Given the description of an element on the screen output the (x, y) to click on. 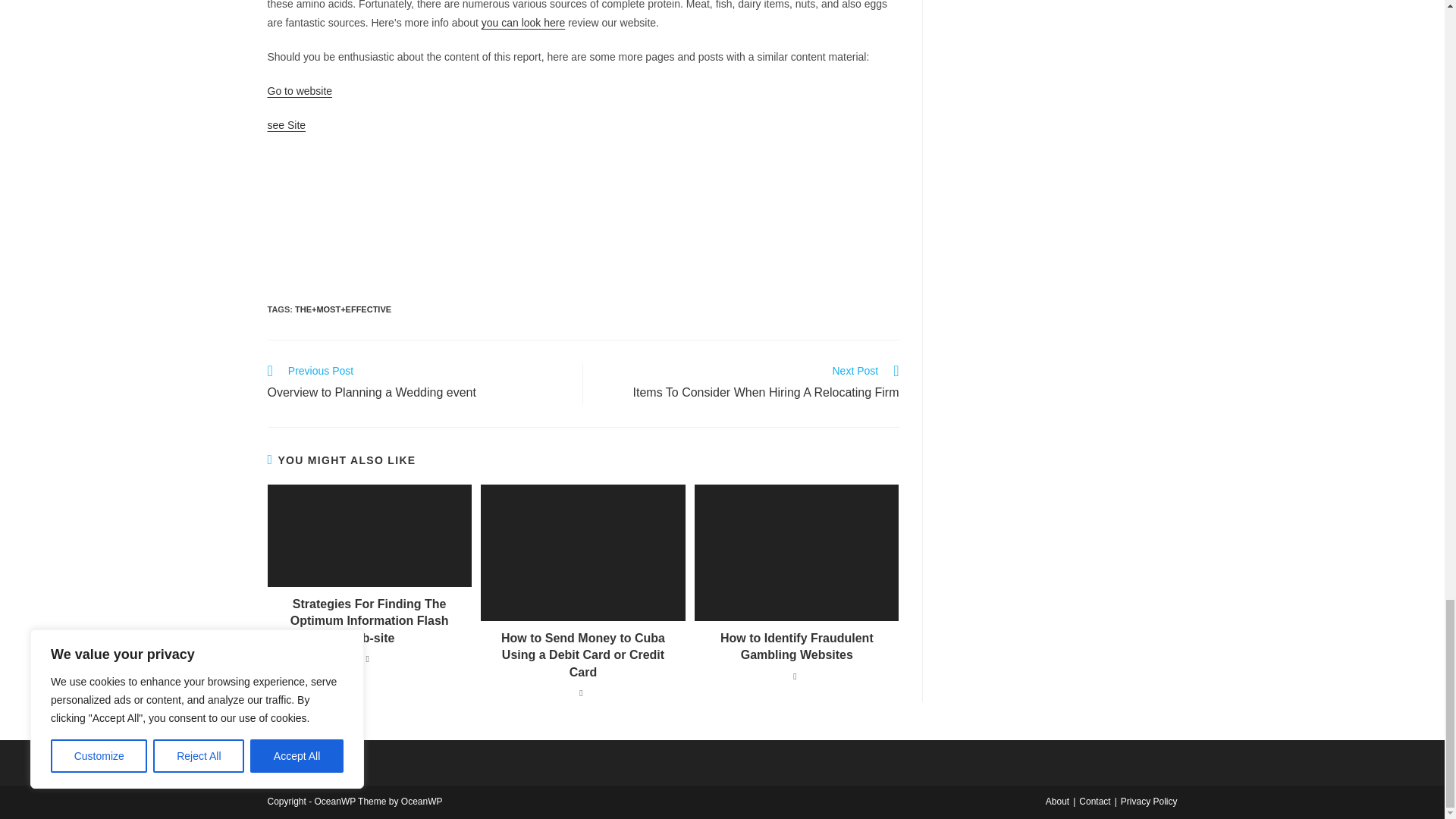
see Site (285, 124)
you can look here (523, 22)
Go to website (416, 383)
